Given the description of an element on the screen output the (x, y) to click on. 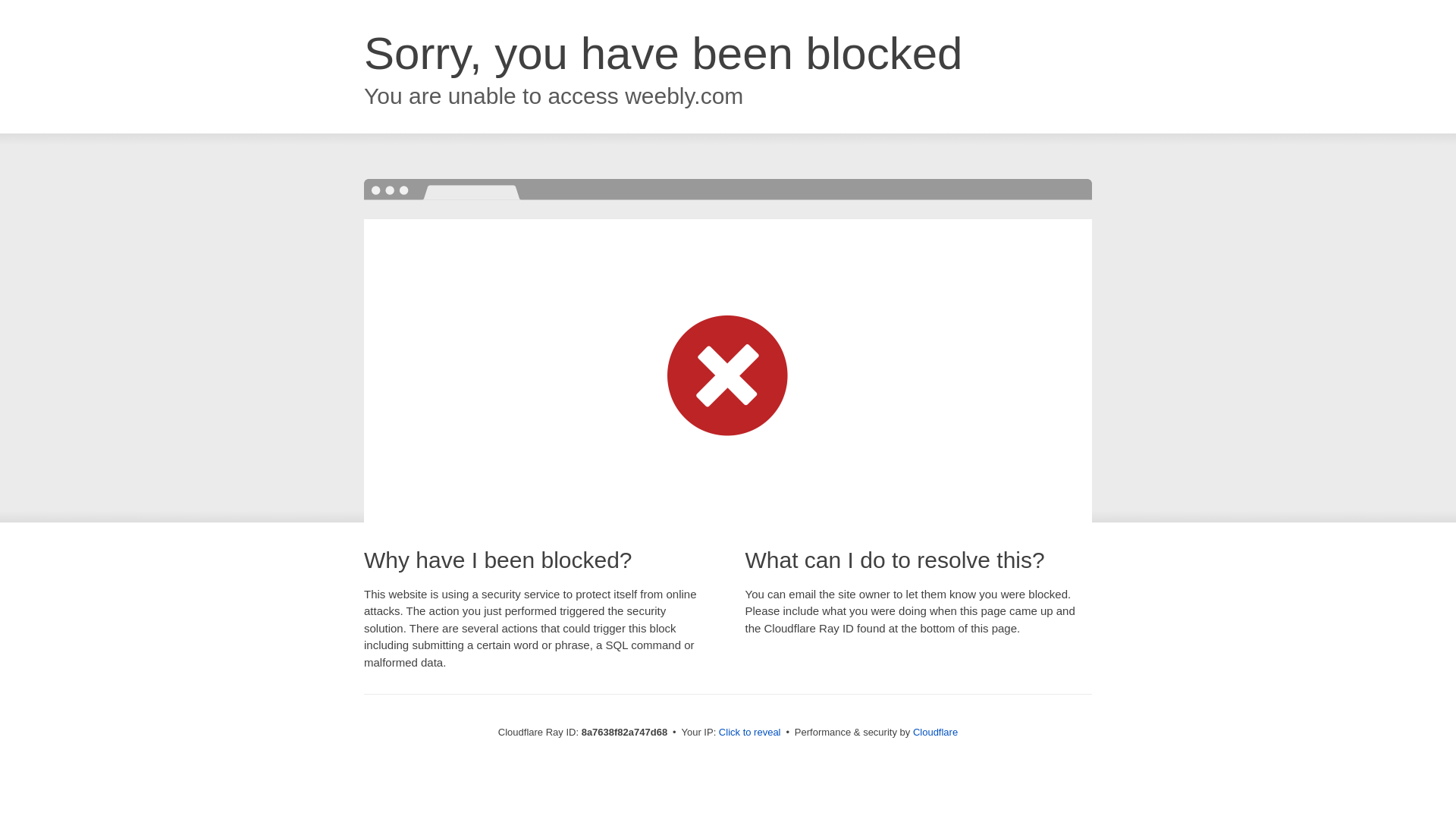
Cloudflare (935, 731)
Click to reveal (749, 732)
